Given the description of an element on the screen output the (x, y) to click on. 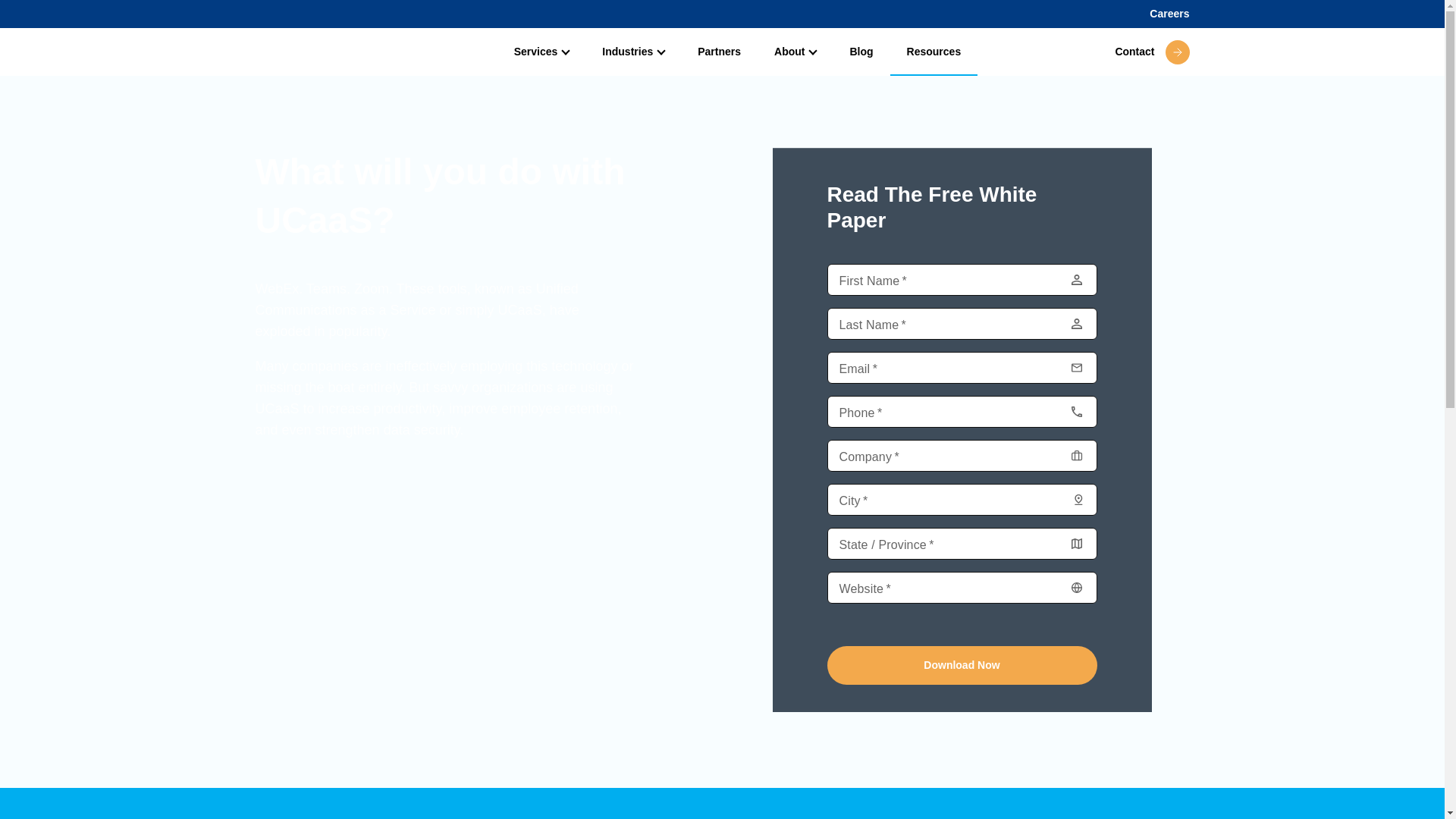
Services (541, 51)
Careers (1169, 13)
About (794, 51)
Industries (633, 51)
Partners (719, 51)
